Given the description of an element on the screen output the (x, y) to click on. 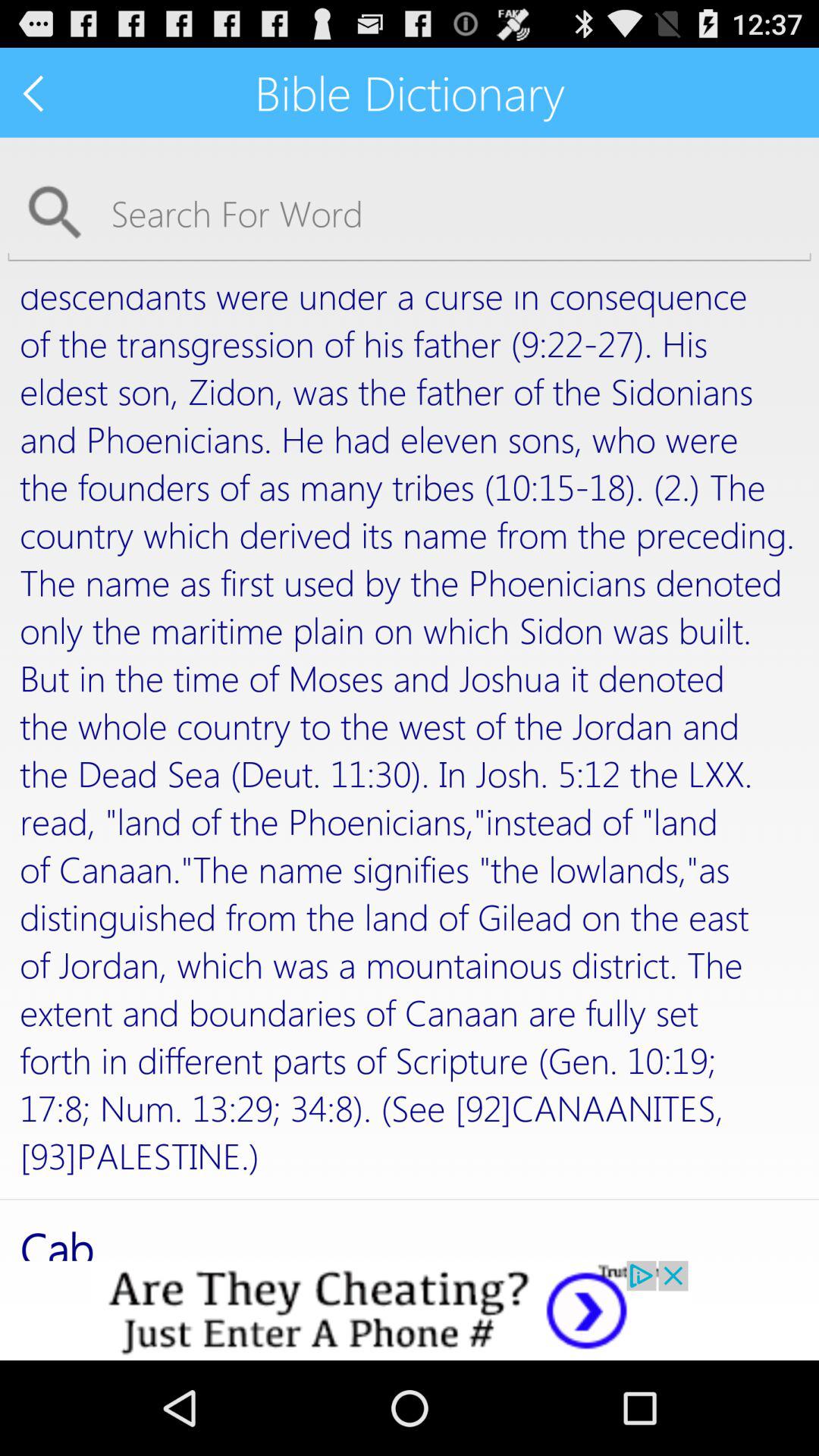
advertisement (409, 1310)
